Given the description of an element on the screen output the (x, y) to click on. 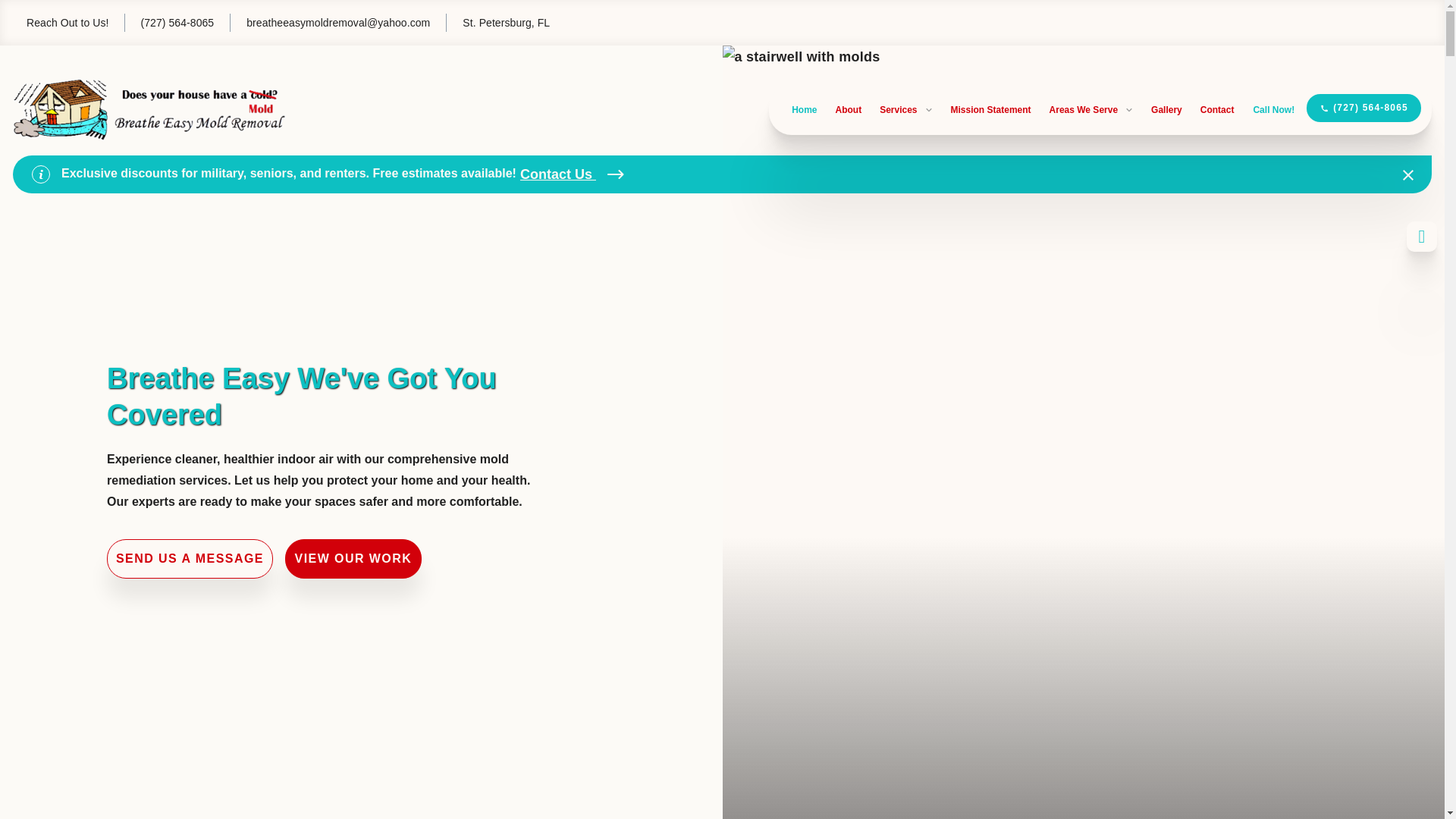
About (847, 110)
SEND US A MESSAGE (189, 558)
Mission Statement (990, 110)
Services (905, 110)
VIEW OUR WORK (353, 558)
Home (804, 110)
Areas We Serve (1091, 110)
Contact Us (571, 173)
St. Petersburg, FL (497, 22)
Contact (1216, 110)
